Given the description of an element on the screen output the (x, y) to click on. 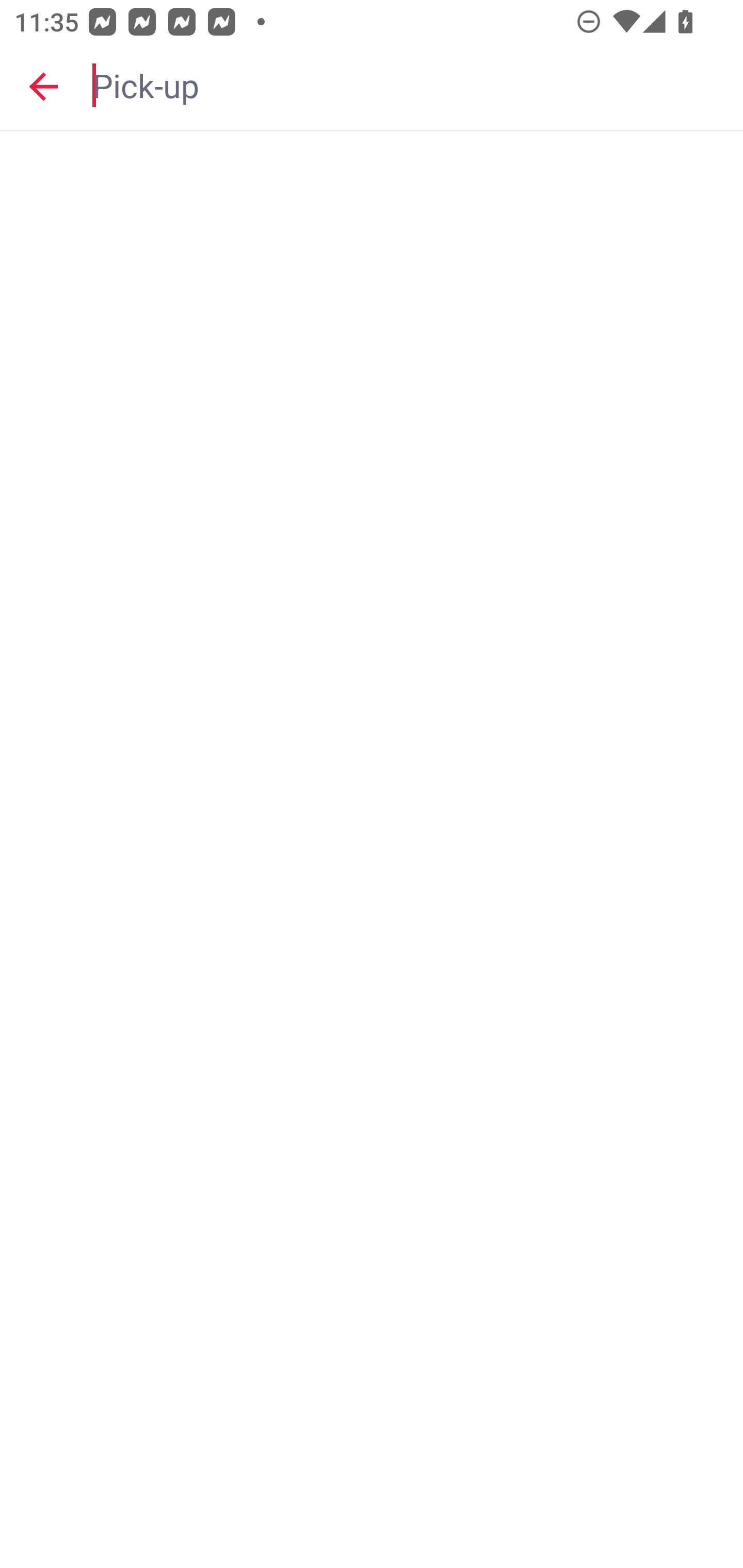
Pick-up,  (407, 85)
Close search screen (43, 86)
